Given the description of an element on the screen output the (x, y) to click on. 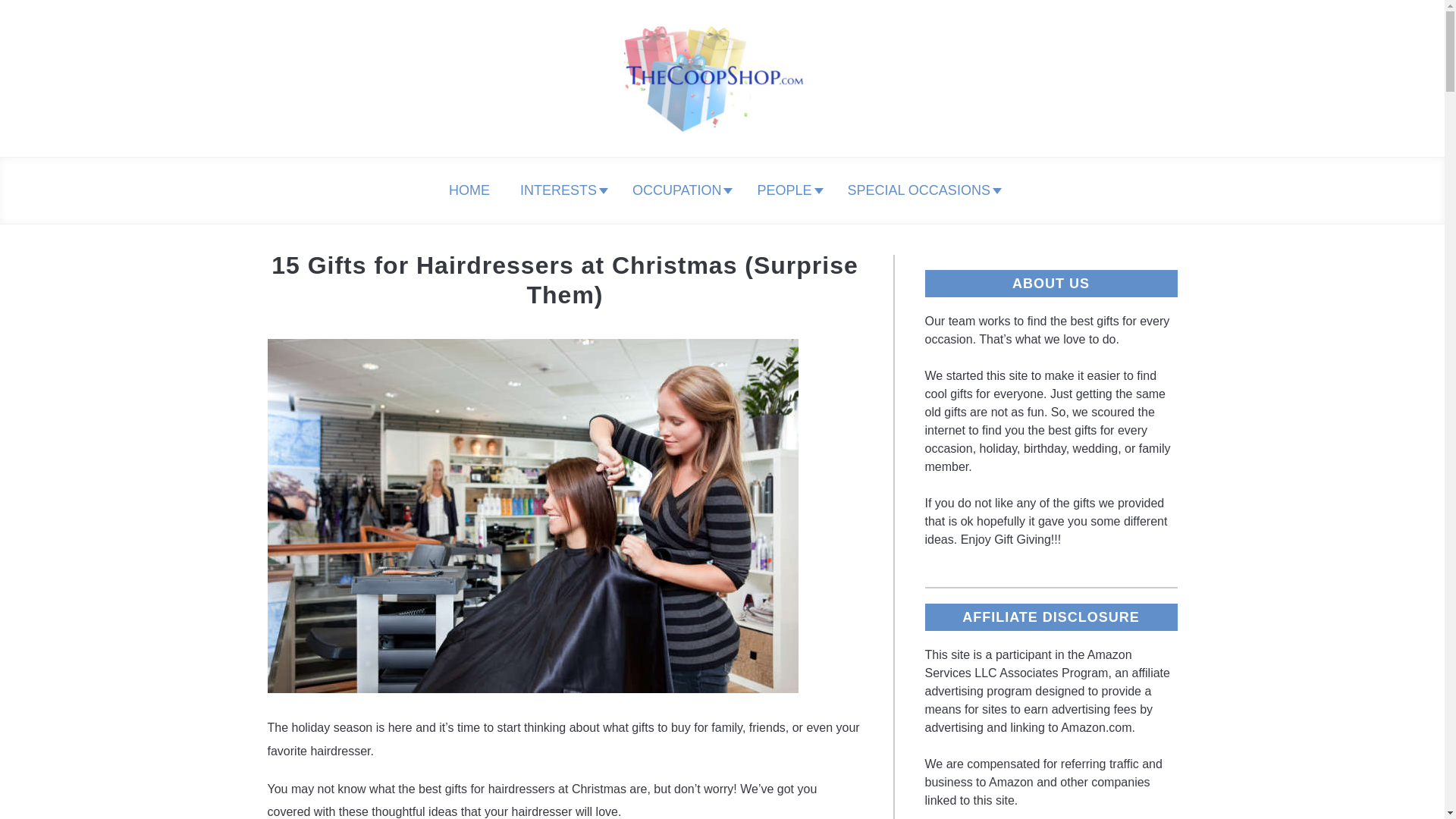
HOME (469, 190)
SPECIAL OCCASIONS (921, 190)
OCCUPATION (679, 190)
PEOPLE (786, 190)
INTERESTS (561, 190)
Search (1203, 78)
